Given the description of an element on the screen output the (x, y) to click on. 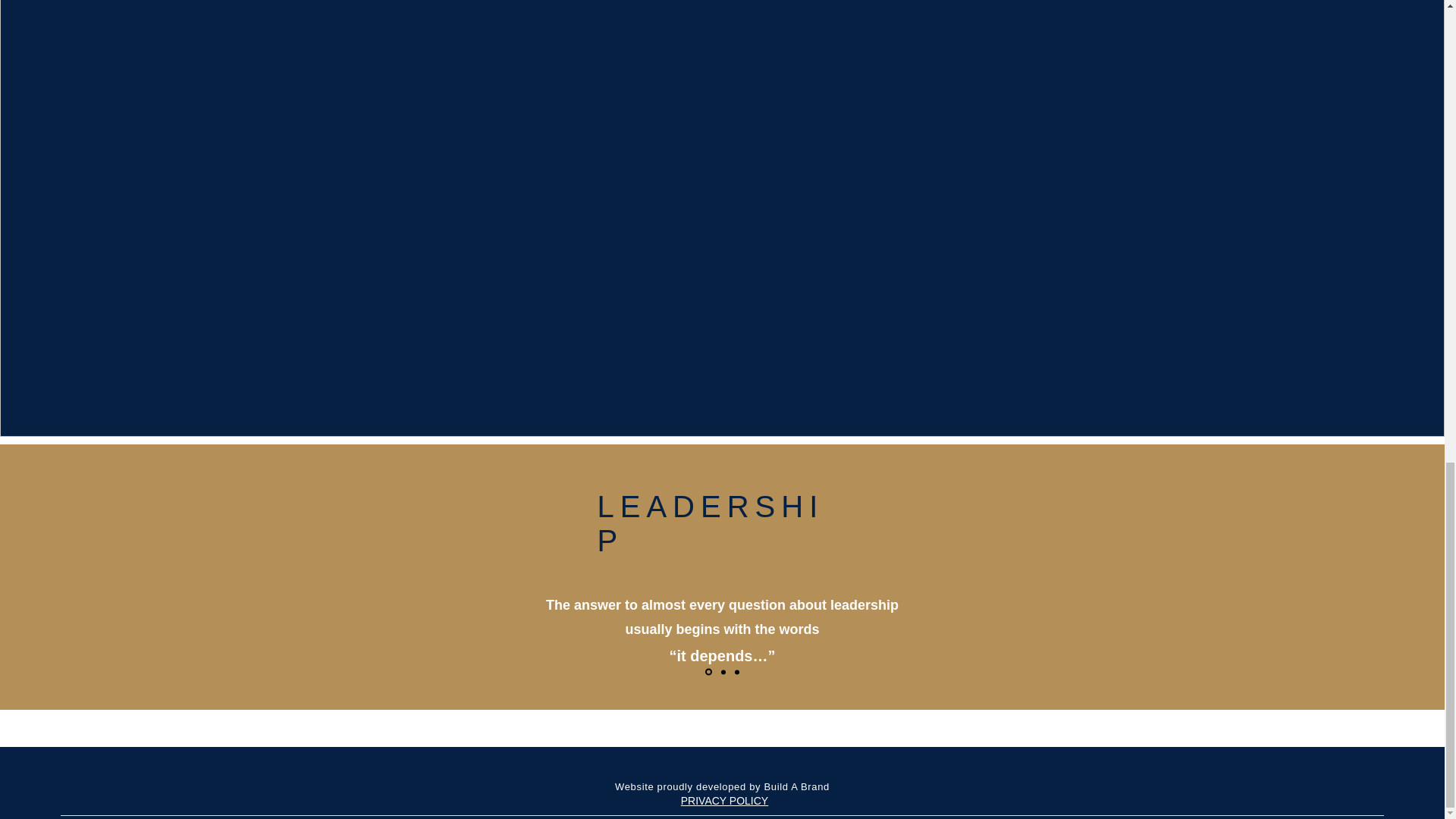
Website proudly developed by Build A Brand (721, 786)
Start Now (722, 656)
PRIVACY POLICY (724, 800)
